Given the description of an element on the screen output the (x, y) to click on. 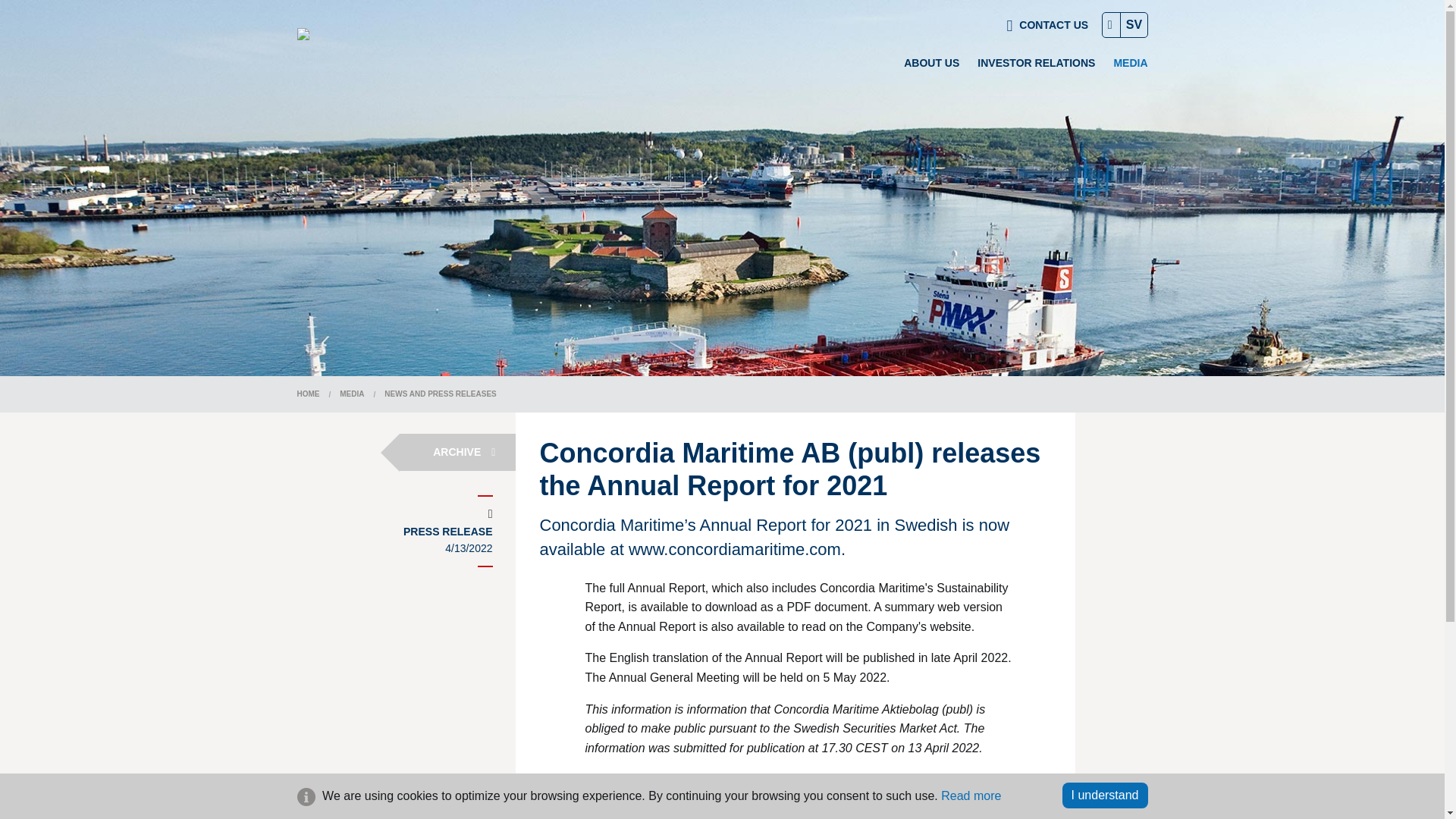
SV (1134, 24)
PDF (601, 779)
HOME (308, 393)
MEDIA (1130, 62)
ARCHIVE (456, 452)
NEWS AND PRESS RELEASES (440, 393)
MEDIA (351, 393)
CONTACT US (1048, 25)
INVESTOR RELATIONS (1035, 62)
Read more (970, 795)
